Given the description of an element on the screen output the (x, y) to click on. 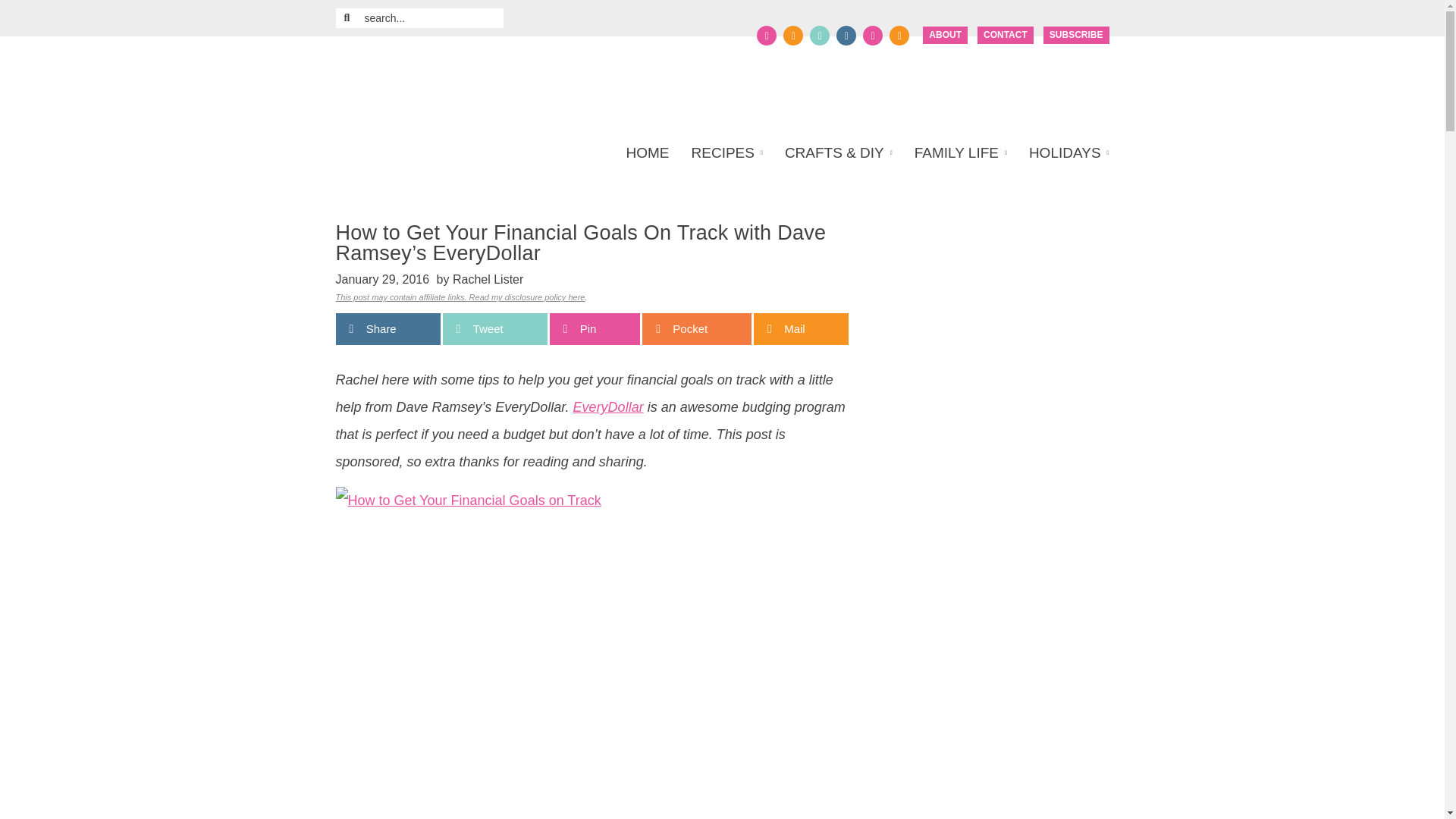
5 Minutes for Mom (480, 82)
SUBSCRIBE (1076, 35)
Follow 5 Minutes For Mom on Facebook (766, 35)
Follow 5 Minutes For Mom via RSS (898, 35)
Follow 5 Minutes For Mom on YouTube (872, 35)
CONTACT (1004, 35)
Follow 5 Minutes For Mom on Twitter (793, 35)
ABOUT (945, 35)
HOME (652, 153)
